Given the description of an element on the screen output the (x, y) to click on. 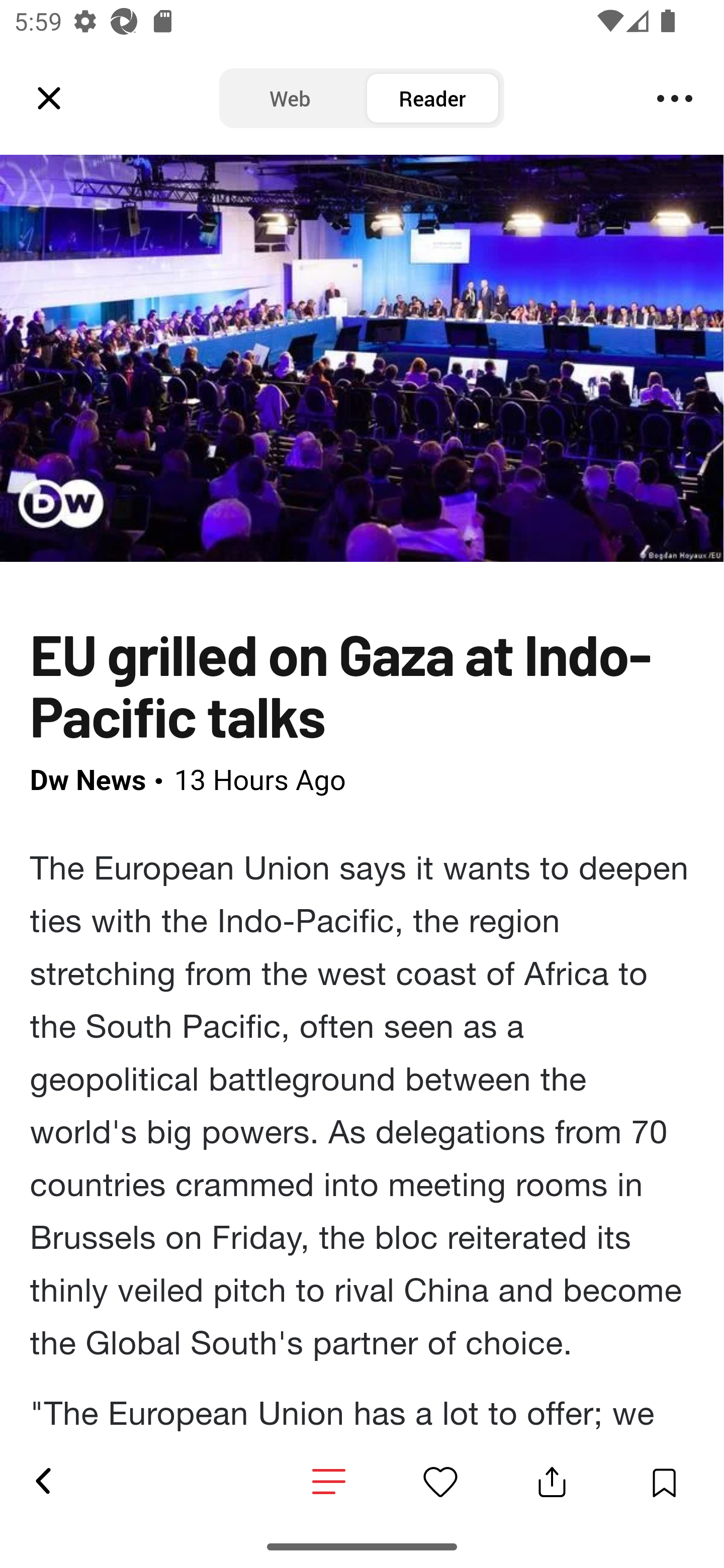
Web (290, 98)
Menu (674, 98)
Leading Icon (49, 98)
Back Button (42, 1481)
News Detail Emotion (440, 1481)
Share Button (551, 1481)
Save Button (663, 1481)
News Detail Emotion (329, 1482)
